Given the description of an element on the screen output the (x, y) to click on. 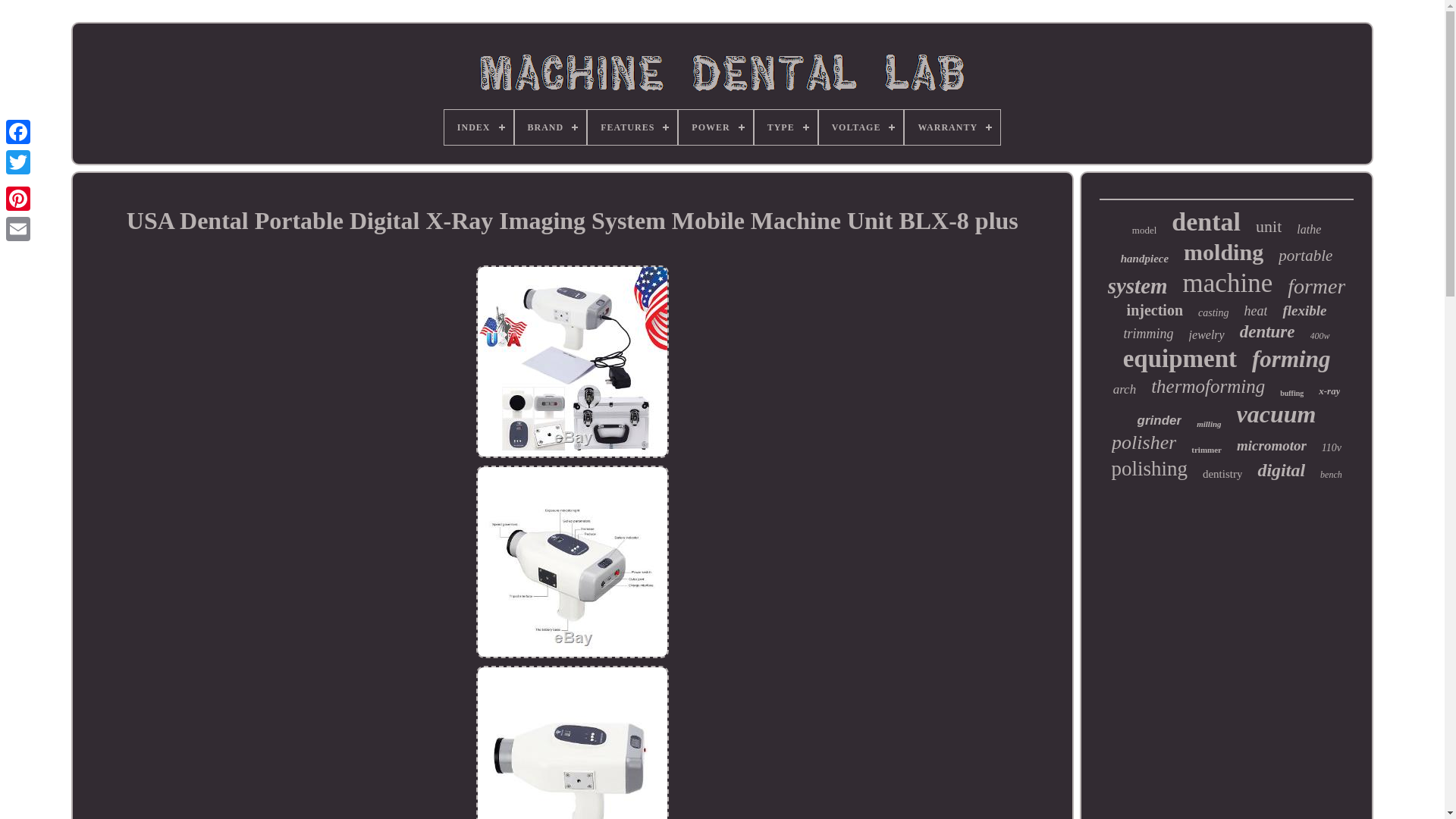
INDEX (478, 126)
FEATURES (632, 126)
BRAND (550, 126)
